Given the description of an element on the screen output the (x, y) to click on. 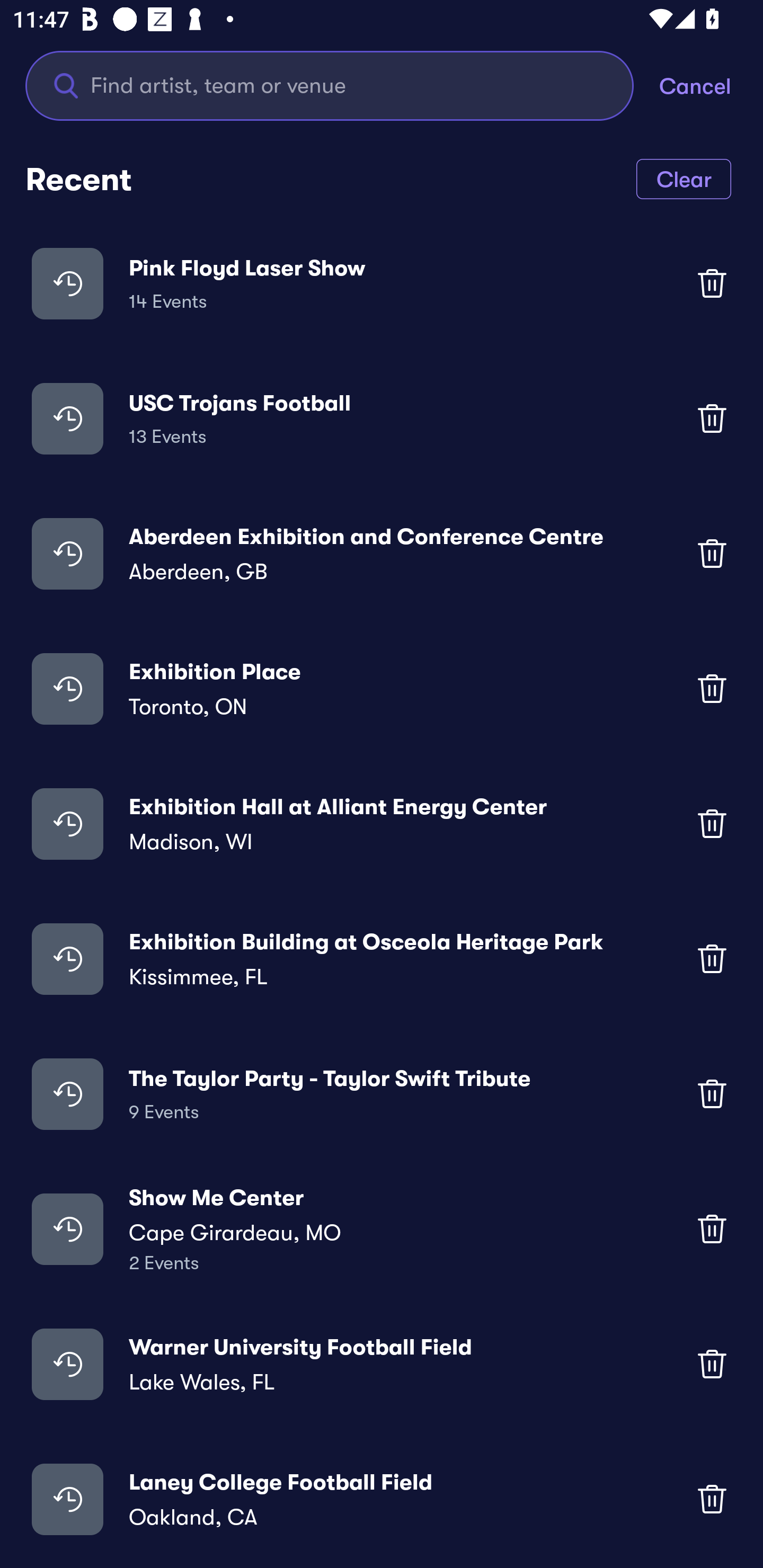
Cancel (711, 85)
Find artist, team or venue Find (329, 85)
Find artist, team or venue Find (341, 85)
Clear (683, 178)
Pink Floyd Laser Show 14 Events (381, 282)
USC Trojans Football 13 Events (381, 417)
Exhibition Place Toronto, ON (381, 688)
The Taylor Party - Taylor Swift Tribute 9 Events (381, 1093)
Show Me Center Cape Girardeau, MO 2 Events (381, 1228)
Warner University Football Field Lake Wales, FL (381, 1364)
Laney College Football Field Oakland, CA (381, 1498)
